Given the description of an element on the screen output the (x, y) to click on. 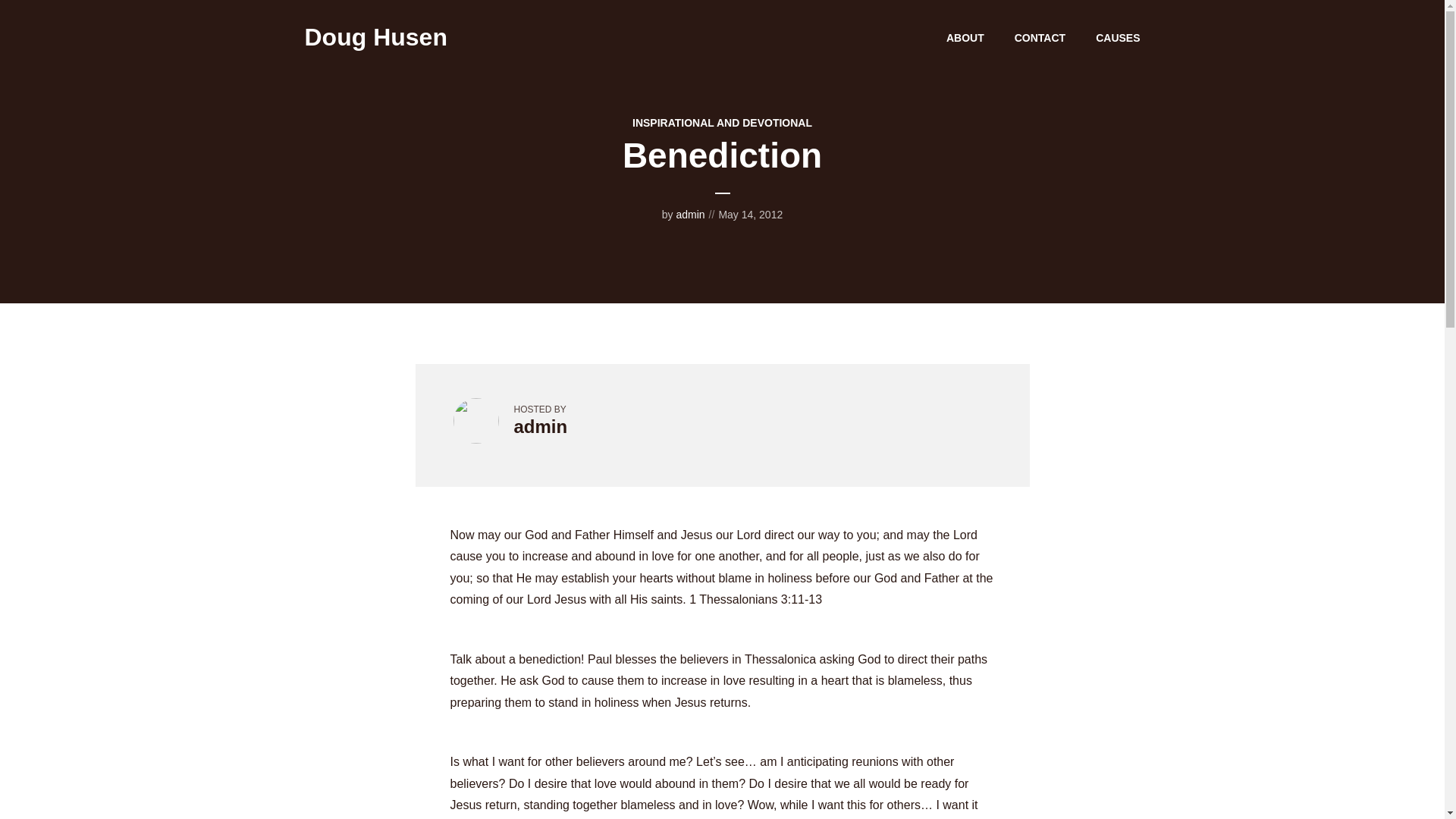
Doug Husen (375, 36)
CONTACT (1039, 37)
admin (689, 214)
admin (540, 426)
INSPIRATIONAL AND DEVOTIONAL (721, 122)
CAUSES (1118, 37)
ABOUT (965, 37)
